Given the description of an element on the screen output the (x, y) to click on. 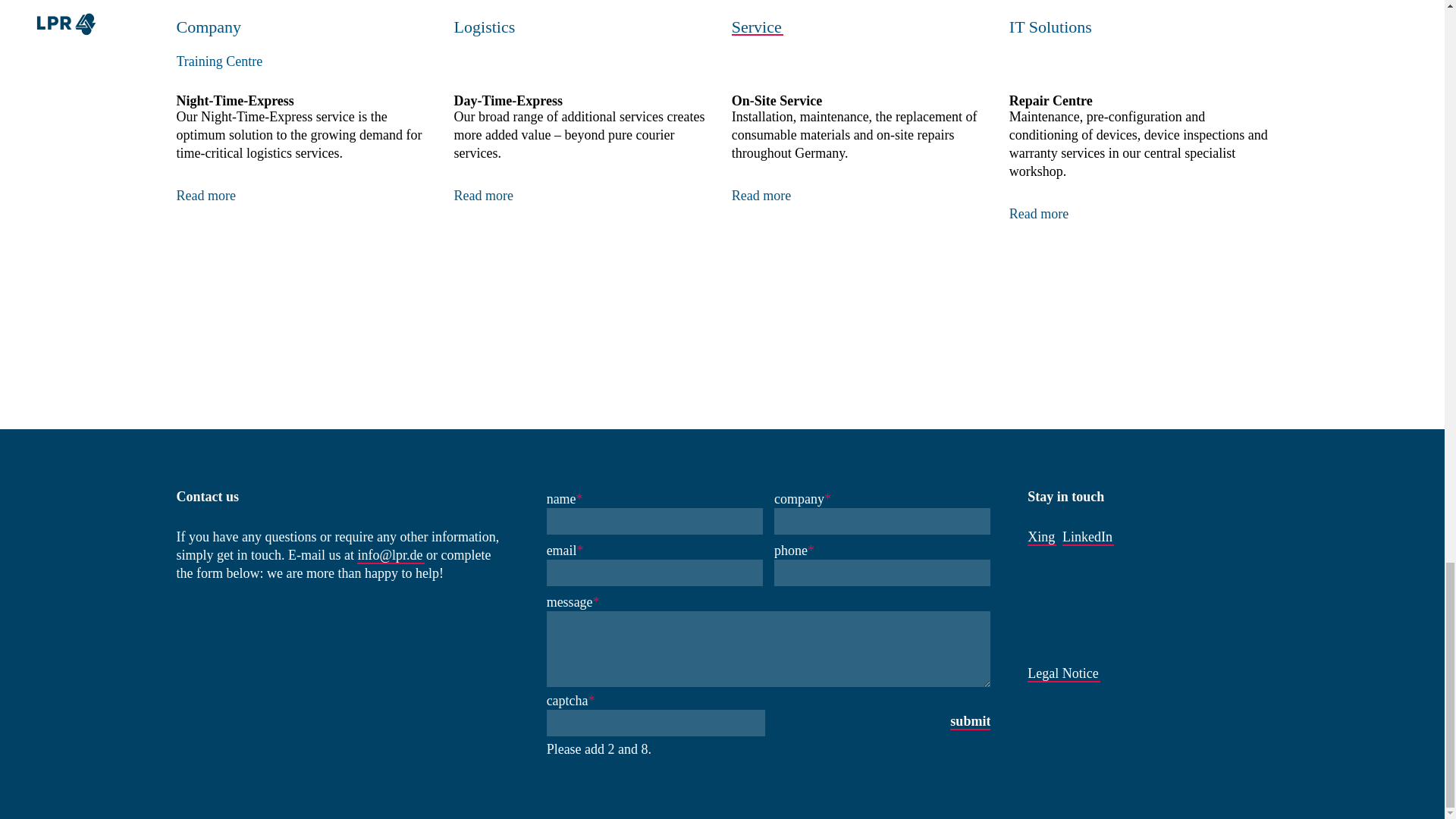
submit (970, 721)
Read more (205, 183)
LinkedIn (1087, 536)
Read more (483, 183)
Read more (1038, 201)
Xing (1040, 536)
Legal Notice (1062, 673)
Read more (761, 183)
